Given the description of an element on the screen output the (x, y) to click on. 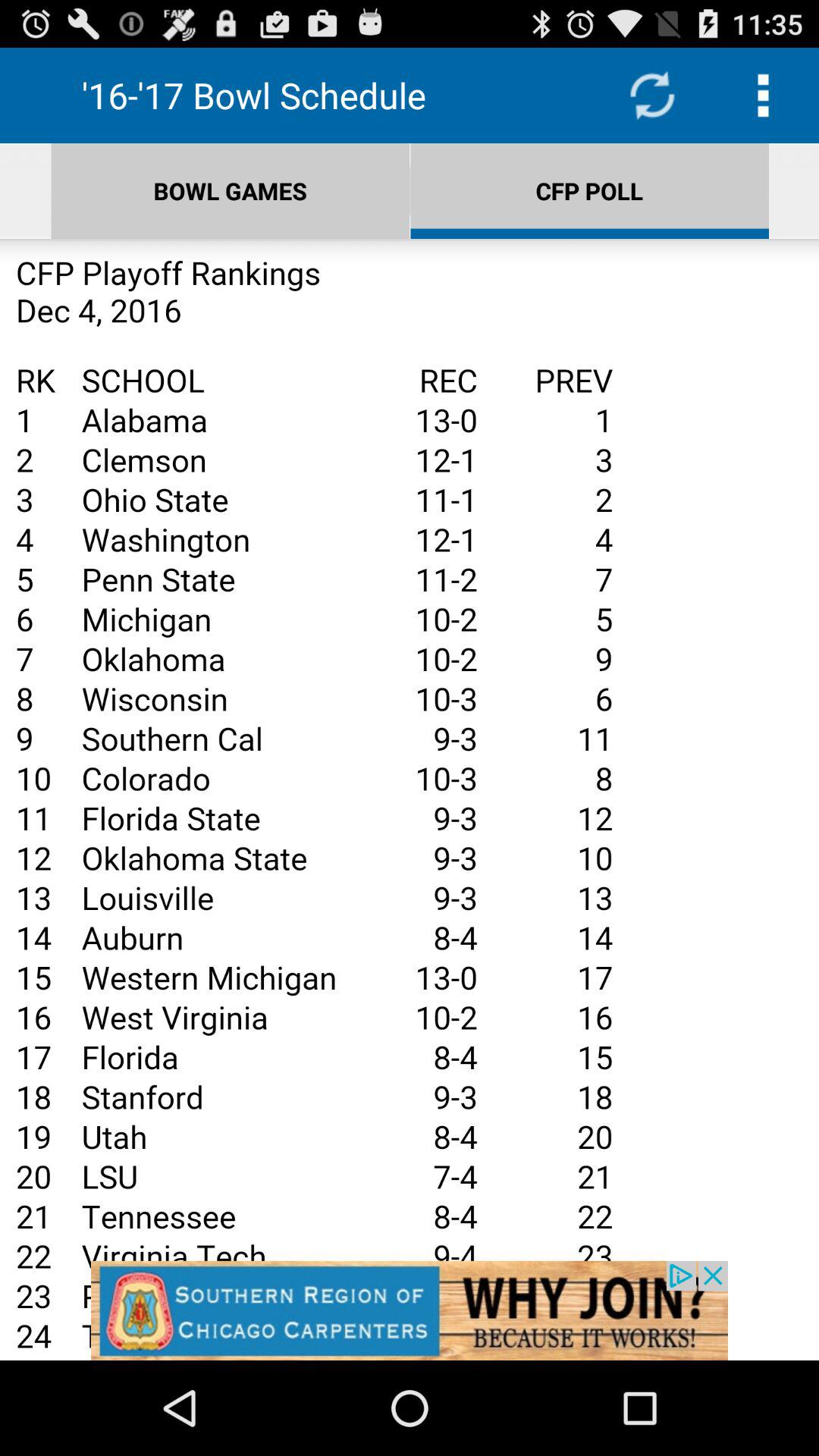
account using in name (409, 799)
